Given the description of an element on the screen output the (x, y) to click on. 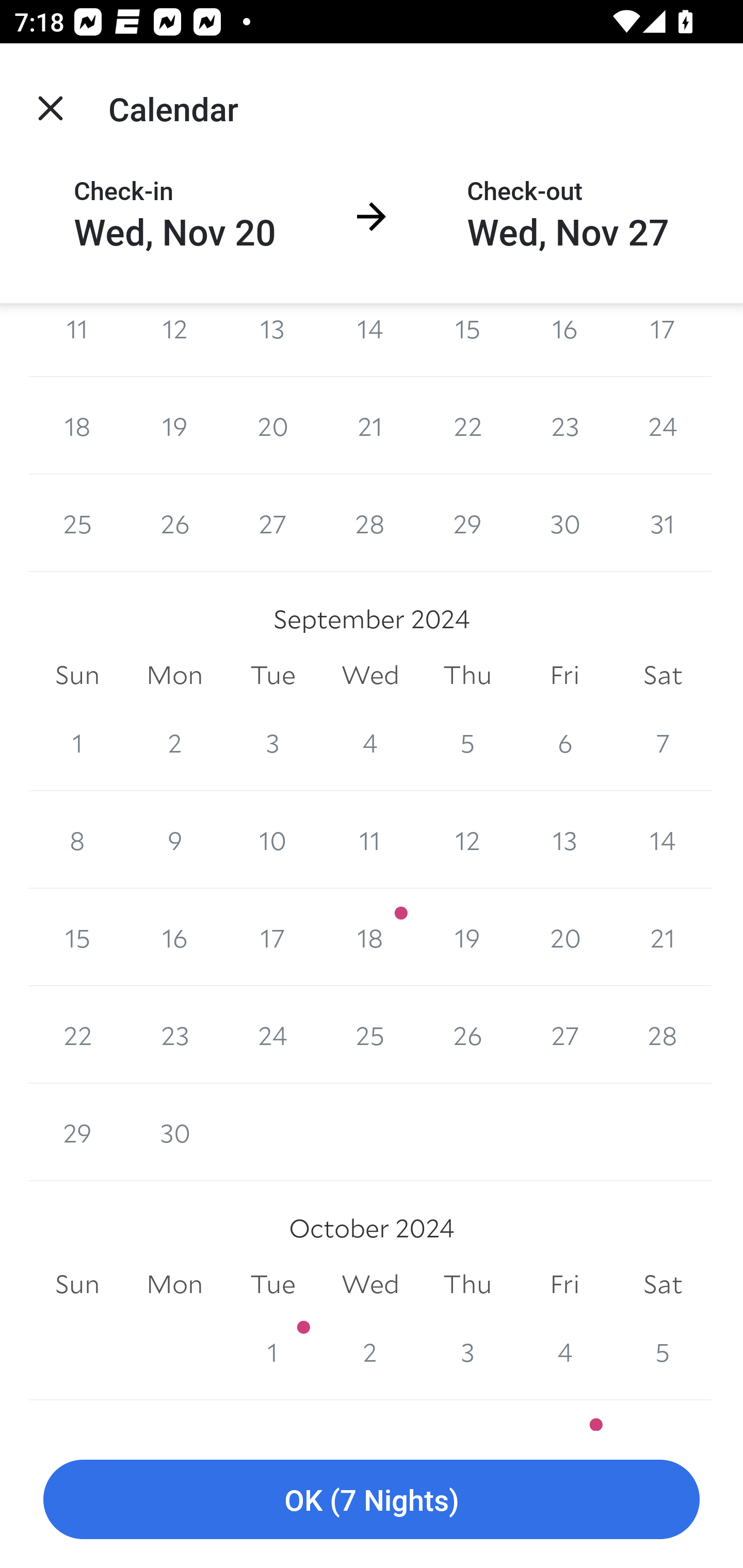
11 11 August 2024 (77, 339)
12 12 August 2024 (174, 339)
13 13 August 2024 (272, 339)
14 14 August 2024 (370, 339)
15 15 August 2024 (467, 339)
16 16 August 2024 (564, 339)
17 17 August 2024 (662, 339)
18 18 August 2024 (77, 425)
19 19 August 2024 (174, 425)
20 20 August 2024 (272, 425)
21 21 August 2024 (370, 425)
22 22 August 2024 (467, 425)
23 23 August 2024 (564, 425)
24 24 August 2024 (662, 425)
25 25 August 2024 (77, 523)
26 26 August 2024 (174, 523)
27 27 August 2024 (272, 523)
28 28 August 2024 (370, 523)
29 29 August 2024 (467, 523)
30 30 August 2024 (564, 523)
31 31 August 2024 (662, 523)
Sun (77, 674)
Mon (174, 674)
Tue (272, 674)
Wed (370, 674)
Thu (467, 674)
Fri (564, 674)
Sat (662, 674)
1 1 September 2024 (77, 742)
2 2 September 2024 (174, 742)
3 3 September 2024 (272, 742)
4 4 September 2024 (370, 742)
5 5 September 2024 (467, 742)
6 6 September 2024 (564, 742)
7 7 September 2024 (662, 742)
8 8 September 2024 (77, 840)
9 9 September 2024 (174, 840)
10 10 September 2024 (272, 840)
11 11 September 2024 (370, 840)
12 12 September 2024 (467, 840)
13 13 September 2024 (564, 840)
14 14 September 2024 (662, 840)
15 15 September 2024 (77, 937)
16 16 September 2024 (174, 937)
17 17 September 2024 (272, 937)
18 18 September 2024 (370, 937)
19 19 September 2024 (467, 937)
20 20 September 2024 (564, 937)
21 21 September 2024 (662, 937)
